Given the description of an element on the screen output the (x, y) to click on. 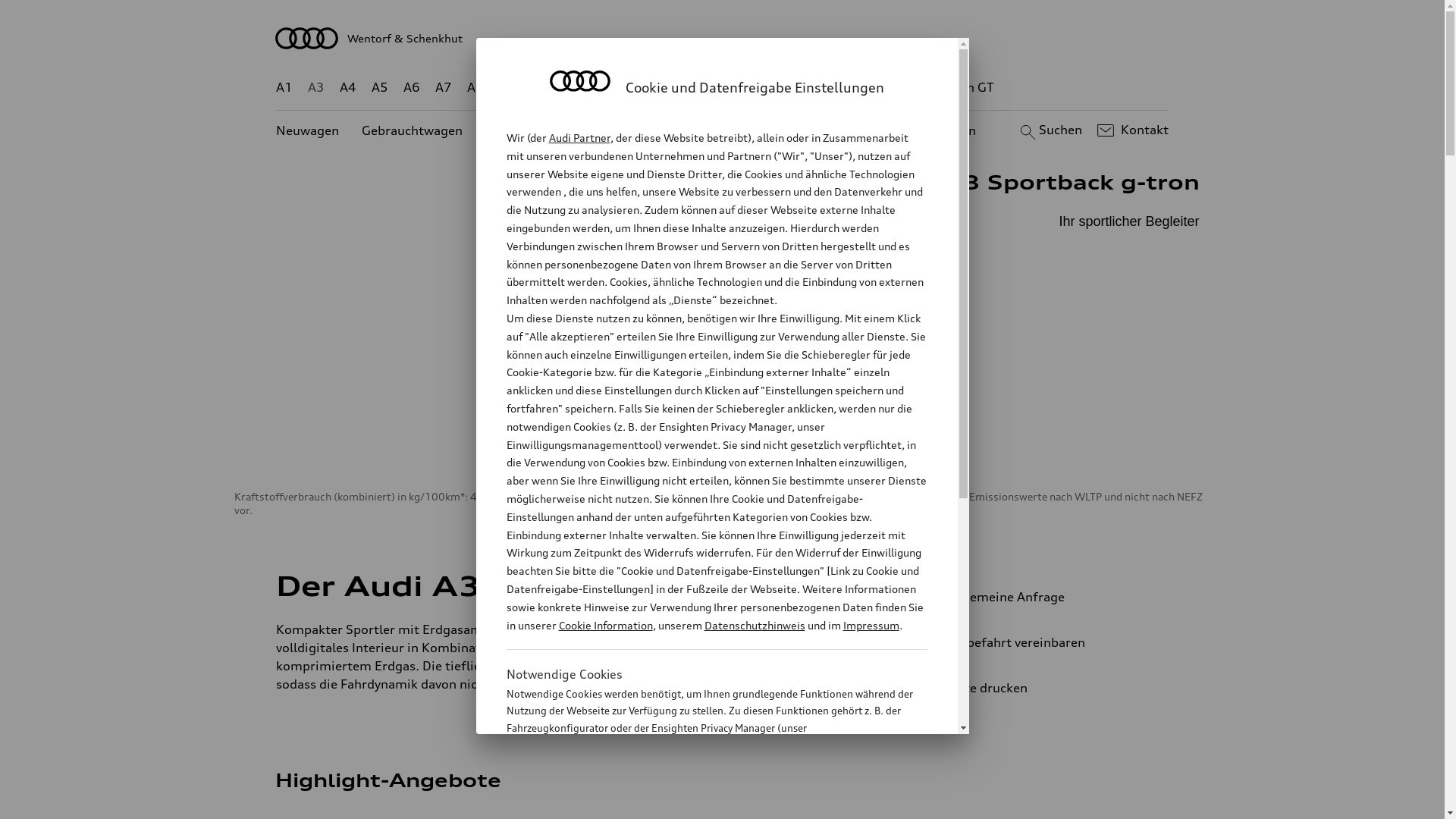
Wentorf & Schenkhut Element type: text (722, 38)
RS Element type: text (861, 87)
Kontakt Element type: text (1130, 130)
Audi Partner Element type: text (579, 137)
Cookie Information Element type: text (700, 802)
Kundenservice Element type: text (730, 130)
Q4 e-tron Element type: text (592, 87)
A8 Element type: text (475, 87)
A6 Element type: text (411, 87)
Neuwagen Element type: text (307, 130)
TT Element type: text (814, 87)
Probefahrt vereinbaren Element type: text (1038, 642)
Q5 Element type: text (645, 87)
Datenschutzhinweis Element type: text (753, 624)
g-tron Element type: text (903, 87)
A5 Element type: text (379, 87)
Q3 Element type: text (540, 87)
A1 Element type: text (284, 87)
Impressum Element type: text (871, 624)
Q8 Element type: text (710, 87)
Allgemeine Anfrage Element type: text (1038, 596)
A3 Element type: text (315, 87)
Angebote Element type: text (636, 130)
Q8 e-tron Element type: text (763, 87)
e-tron GT Element type: text (965, 87)
Q2 Element type: text (507, 87)
Cookie Information Element type: text (605, 624)
Suchen Element type: text (1049, 130)
Q7 Element type: text (678, 87)
A4 Element type: text (347, 87)
A7 Element type: text (443, 87)
Gebrauchtwagen Element type: text (411, 130)
Seite drucken Element type: text (1044, 687)
